Given the description of an element on the screen output the (x, y) to click on. 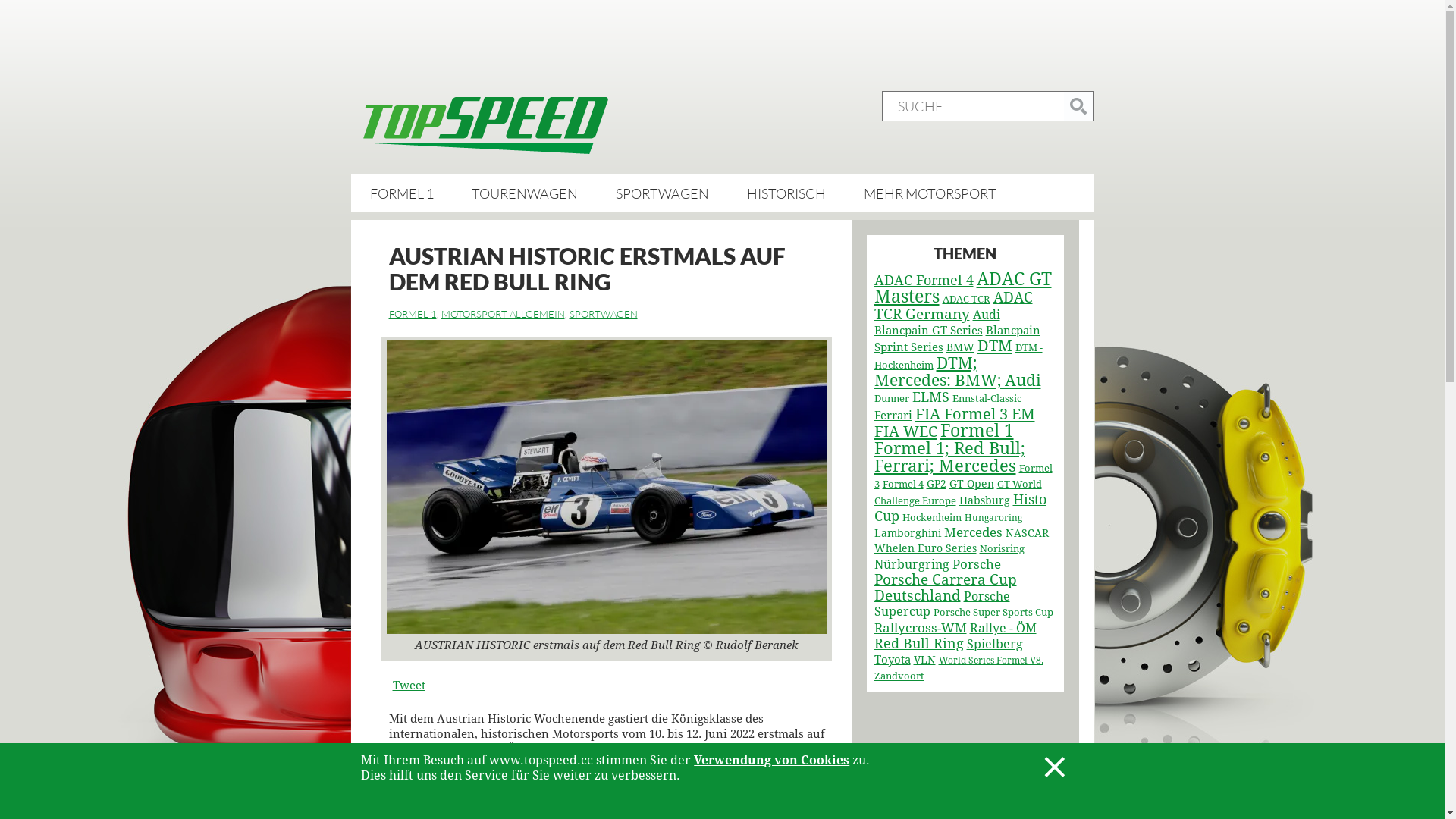
Ennstal-Classic Element type: text (986, 398)
Spielberg Element type: text (994, 644)
Formel 4 Element type: text (902, 483)
Verwendung von Cookies Element type: text (771, 760)
Dunner Element type: text (890, 398)
ADAC TCR Element type: text (965, 298)
DTM - Hockenheim Element type: text (957, 356)
BMW Element type: text (960, 347)
ELMS Element type: text (929, 396)
Toyota Element type: text (891, 659)
Formel 1 Element type: text (976, 430)
Hockenheim Element type: text (931, 517)
ADAC TCR Germany Element type: text (952, 305)
FORMEL 1 Element type: text (401, 193)
DTM; Mercedes: BMW; Audi Element type: text (956, 371)
Blancpain GT Series Element type: text (927, 330)
Hungaroring Element type: text (993, 517)
HISTORISCH Element type: text (785, 193)
FIA WEC Element type: text (904, 431)
Porsche Super Sports Cup Element type: text (992, 612)
Mercedes Element type: text (972, 532)
Rallycross-WM Element type: text (919, 627)
TOURENWAGEN Element type: text (524, 193)
Blog durchsuchen Element type: hover (1077, 106)
Porsche Element type: text (976, 563)
Habsburg Element type: text (983, 500)
Lamborghini Element type: text (906, 533)
MOTORSPORT ALLGEMEIN Element type: text (502, 313)
GT World Challenge Europe Element type: text (957, 492)
Porsche Supercup Element type: text (941, 603)
Formel 1; Red Bull; Ferrari; Mercedes Element type: text (948, 456)
World Series Formel V8. Element type: text (990, 660)
Tweet Element type: text (408, 684)
MEHR MOTORSPORT Element type: text (928, 193)
SPORTWAGEN Element type: text (602, 313)
GP2 Element type: text (936, 483)
ADAC Formel 4 Element type: text (922, 280)
NASCAR Whelen Euro Series Element type: text (960, 540)
ADAC GT Masters Element type: text (962, 287)
DTM Element type: text (993, 345)
VLN Element type: text (924, 659)
FORMEL 1 Element type: text (412, 313)
Formel 3 Element type: text (962, 475)
Zandvoort Element type: text (898, 675)
Porsche Carrera Cup Deutschland Element type: text (944, 587)
Red Bull Ring Element type: text (918, 643)
GT Open Element type: text (971, 483)
  Element type: text (491, 126)
FIA Formel 3 EM Element type: text (974, 413)
Histo Cup Element type: text (959, 508)
Ferrari Element type: text (892, 415)
Absenden Element type: text (1077, 106)
Blancpain Sprint Series Element type: text (956, 338)
Audi Element type: text (985, 314)
SPORTWAGEN Element type: text (662, 193)
Norisring Element type: text (1001, 548)
